Given the description of an element on the screen output the (x, y) to click on. 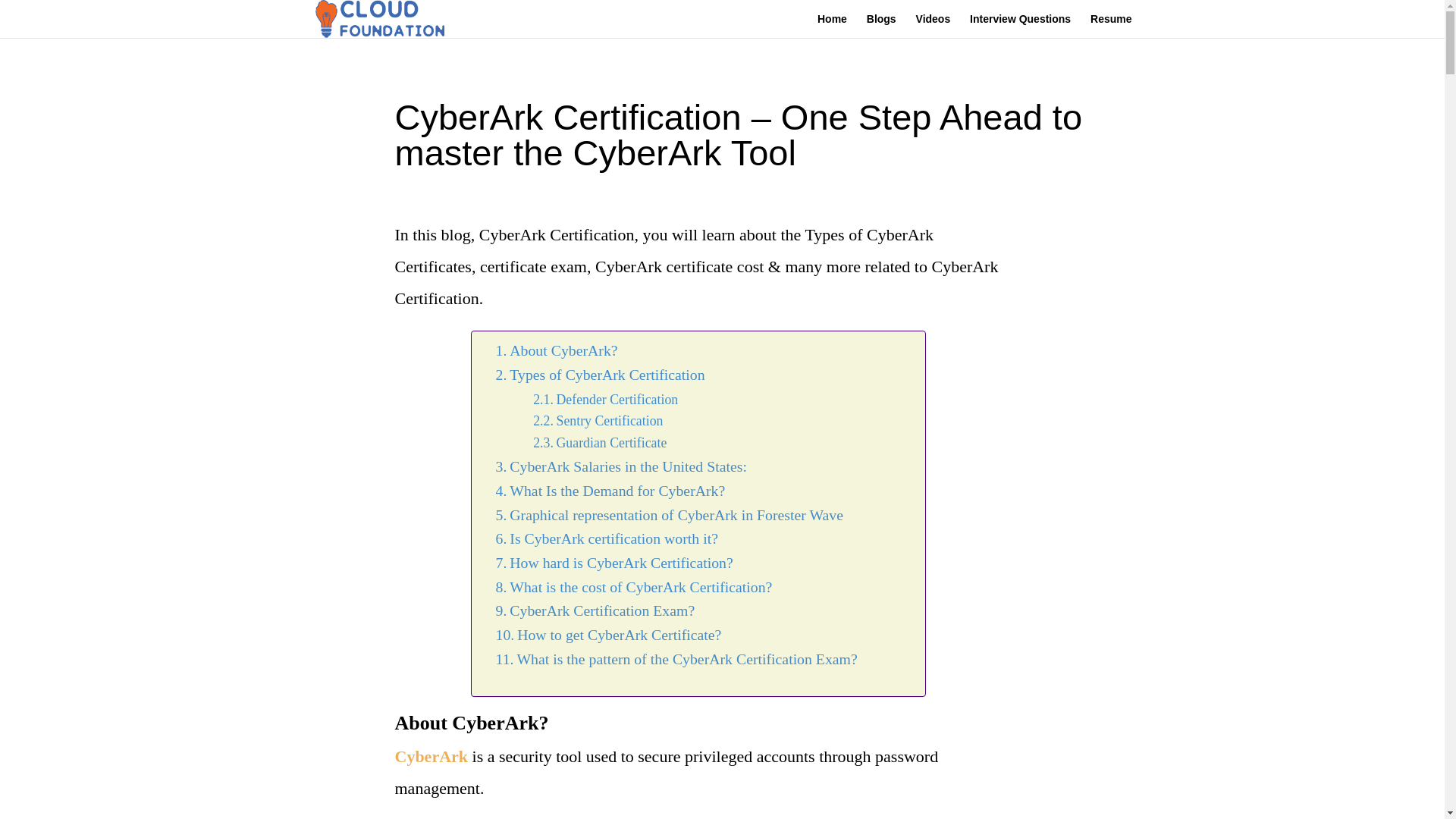
Videos (932, 25)
Is CyberArk certification worth it? (606, 539)
What is the cost of CyberArk Certification? (634, 587)
Types of CyberArk Certification (600, 375)
What Is the Demand for CyberArk? (610, 491)
How hard is CyberArk Certification? (614, 563)
CyberArk Salaries in the United States: (621, 467)
CyberArk Salaries in the United States: (621, 467)
Sentry Certification (597, 421)
What is the cost of CyberArk Certification? (634, 587)
How hard is CyberArk Certification? (614, 563)
Interview Questions (1019, 25)
Types of CyberArk Certification (600, 375)
Defender Certification (605, 400)
How to get CyberArk Certificate? (609, 635)
